Given the description of an element on the screen output the (x, y) to click on. 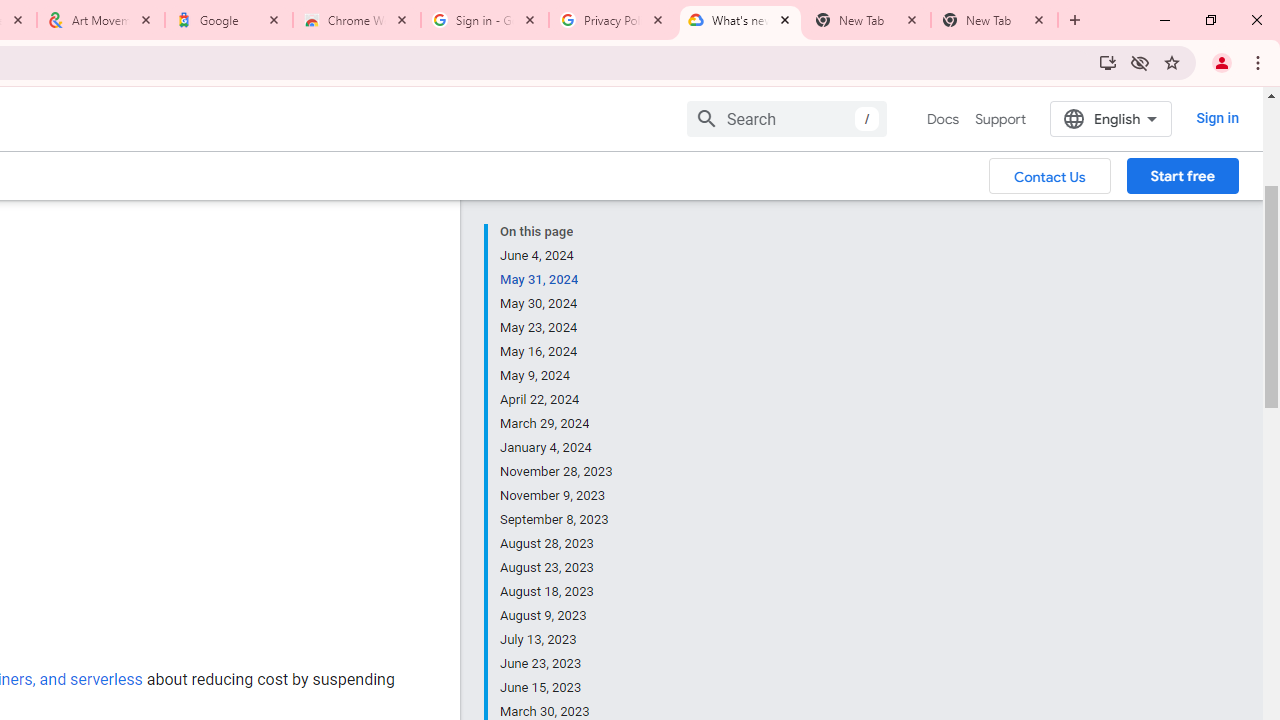
June 4, 2024 (557, 255)
November 9, 2023 (557, 495)
April 22, 2024 (557, 399)
May 30, 2024 (557, 304)
March 29, 2024 (557, 423)
May 9, 2024 (557, 376)
June 15, 2023 (557, 687)
Google (229, 20)
Sign in - Google Accounts (485, 20)
June 23, 2023 (557, 664)
